Given the description of an element on the screen output the (x, y) to click on. 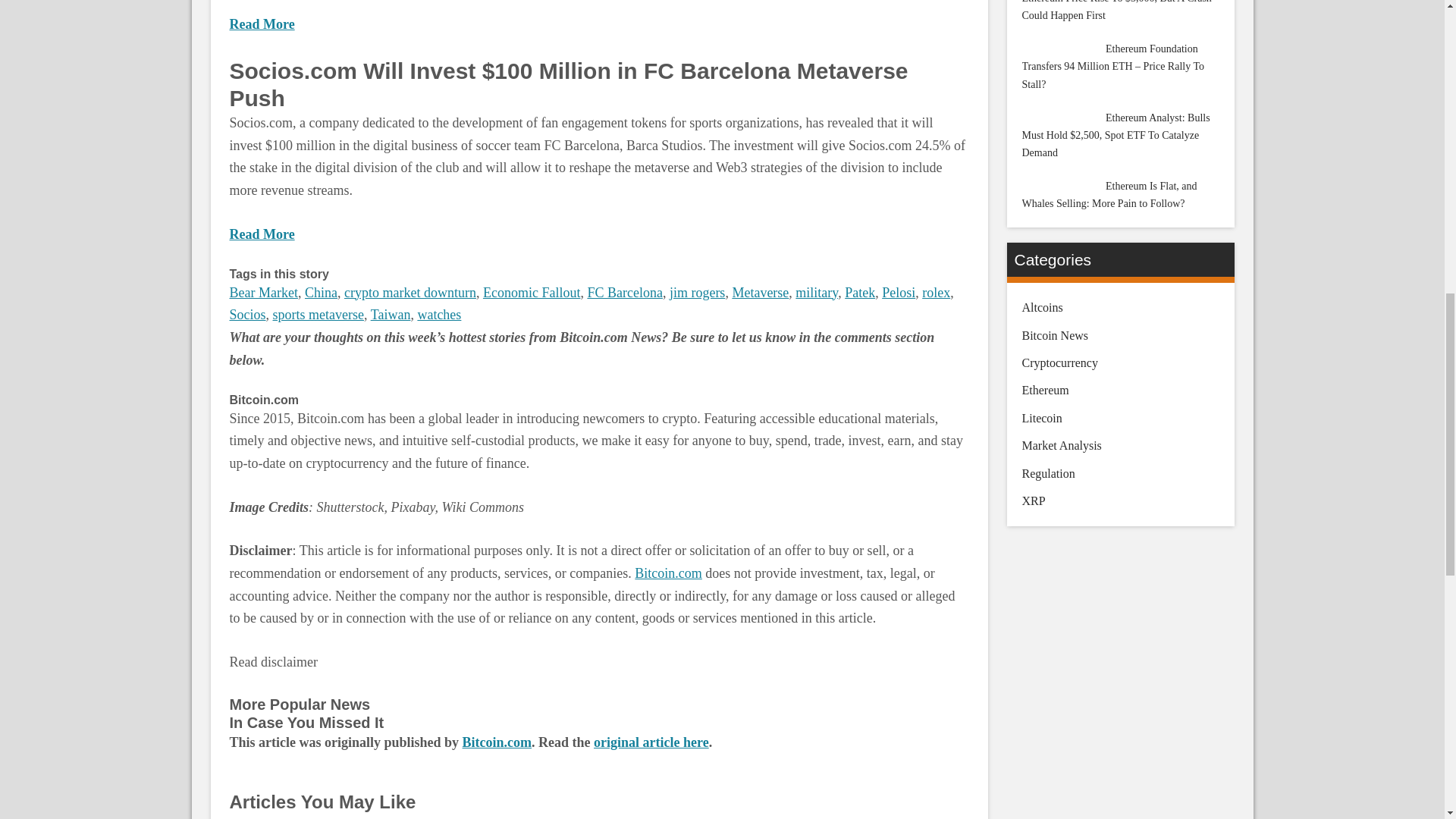
Read More (261, 233)
Bear Market (262, 292)
China (320, 292)
Read More (261, 23)
